Given the description of an element on the screen output the (x, y) to click on. 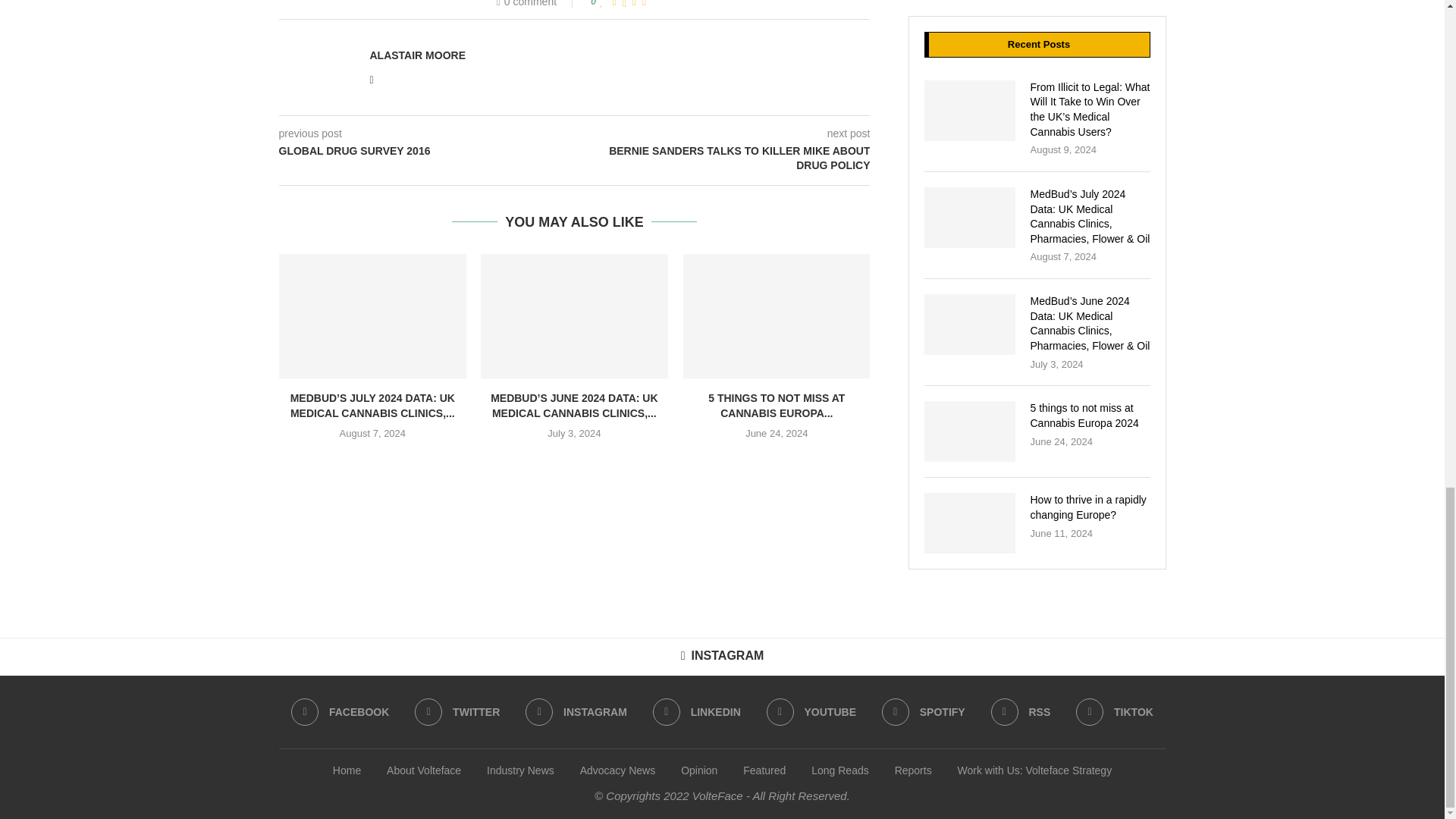
5 things to not miss at Cannabis Europa 2024 (776, 315)
Author Alastair Moore (417, 55)
ALASTAIR MOORE (417, 55)
GLOBAL DRUG SURVEY 2016 (427, 151)
